Given the description of an element on the screen output the (x, y) to click on. 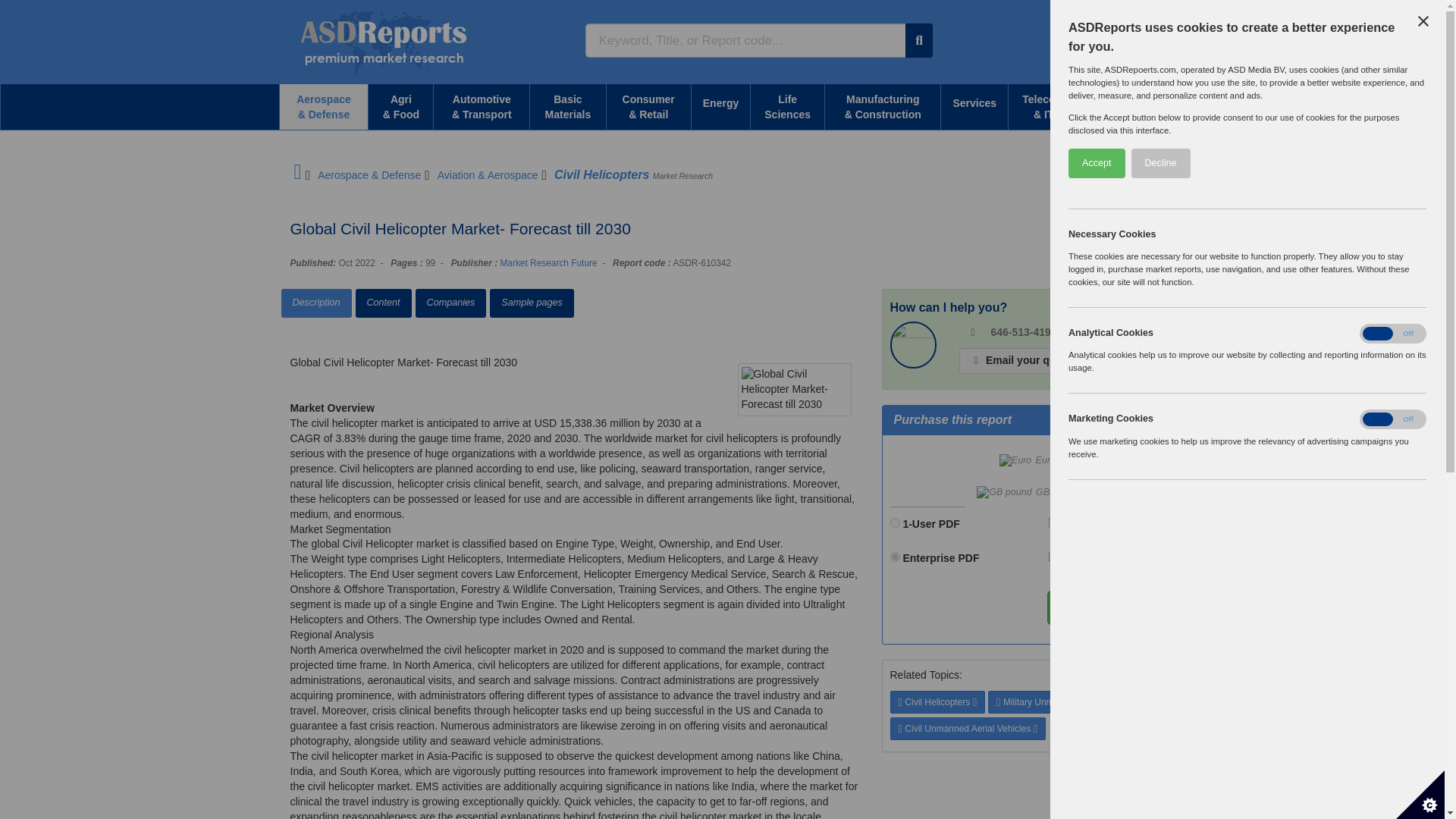
xprice1 (894, 522)
Global Civil Helicopter Market- Forecast till 2030 (793, 389)
Change currency to Euro (1031, 460)
Decline (1359, 163)
Change currency to US Dollar (1107, 460)
xprice2 (894, 556)
Change currency to GB Pound (1019, 492)
